Given the description of an element on the screen output the (x, y) to click on. 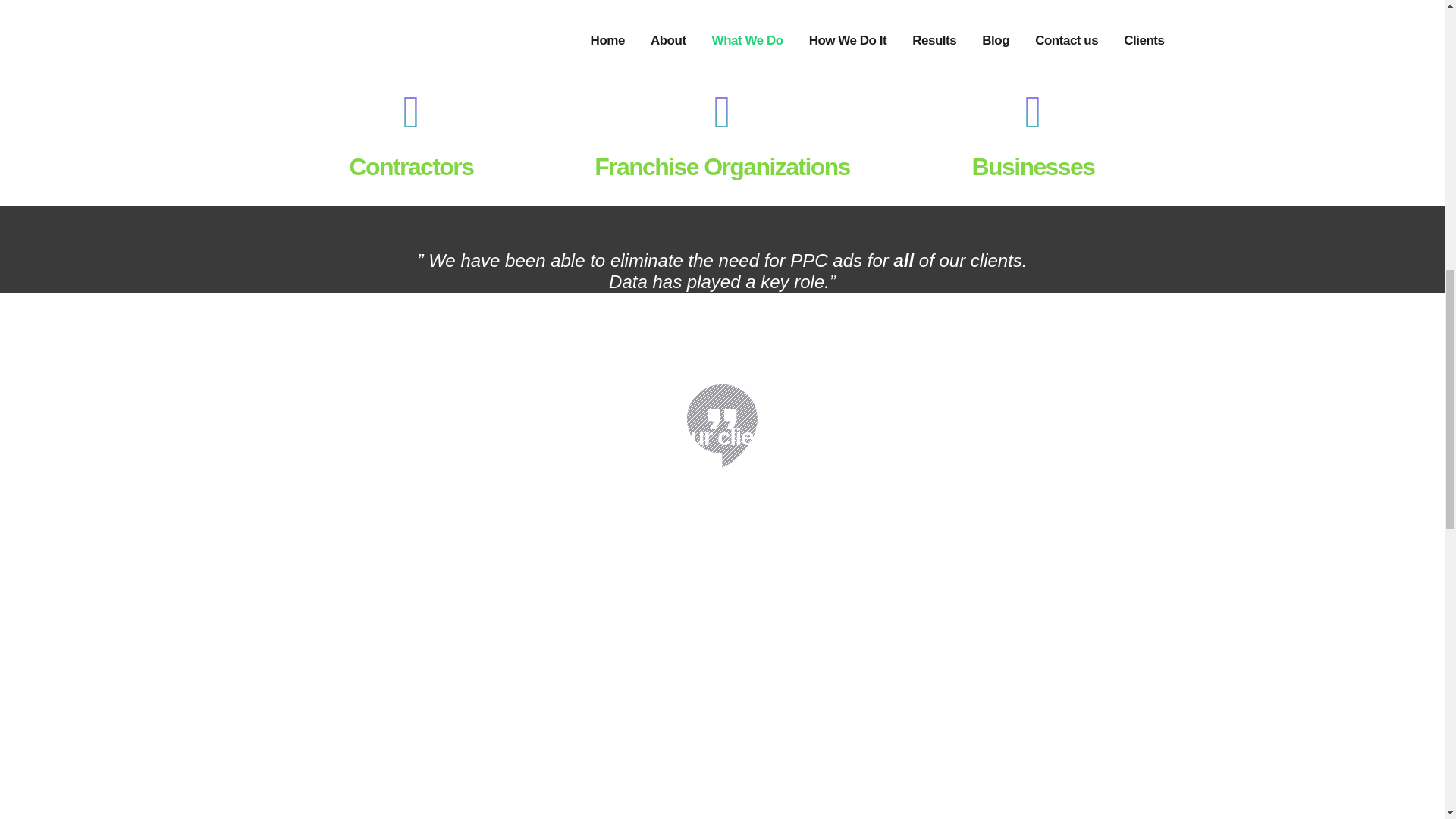
data-driven-makreting-agency (1032, 16)
